Given the description of an element on the screen output the (x, y) to click on. 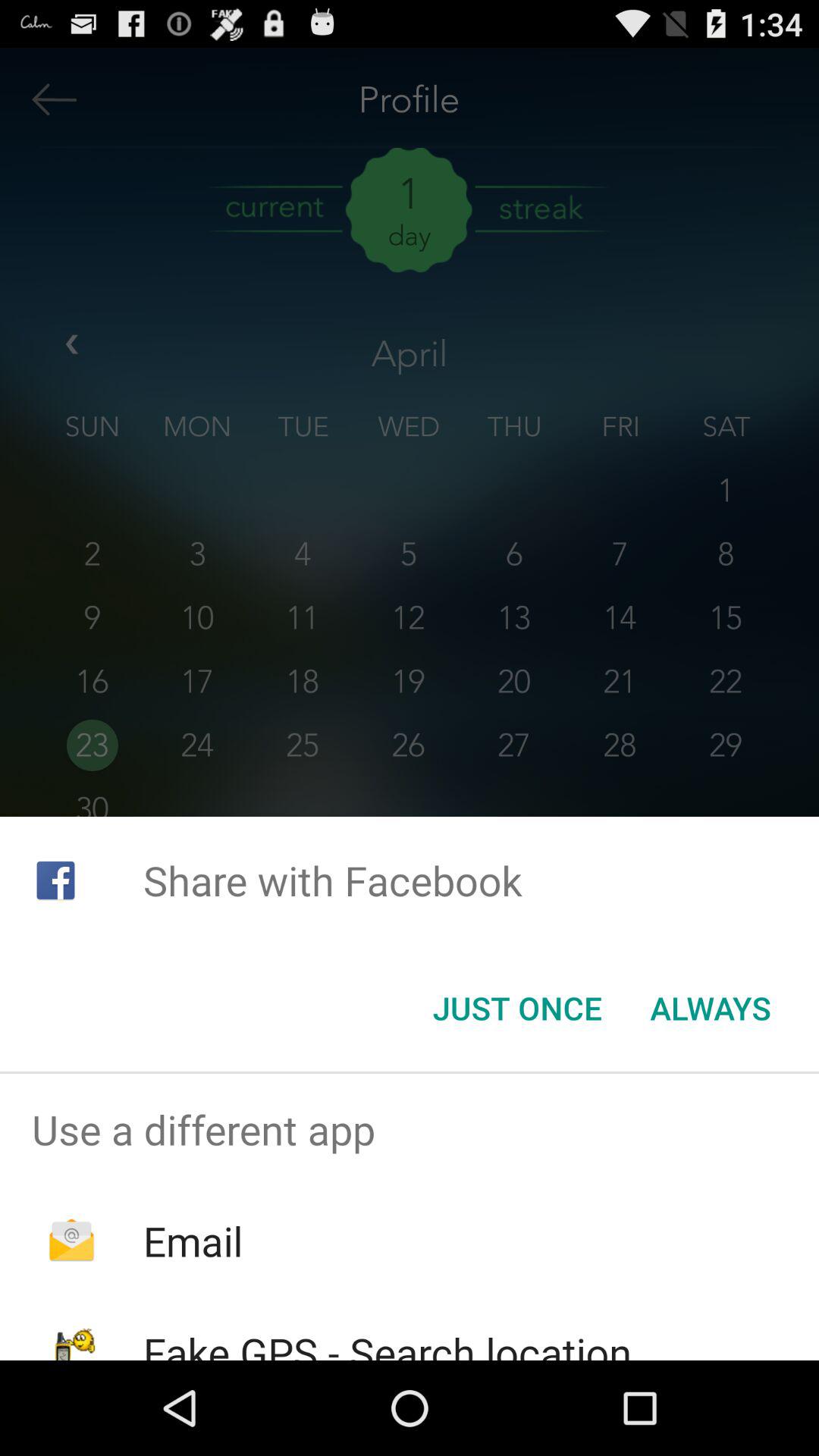
jump to the email app (192, 1240)
